Given the description of an element on the screen output the (x, y) to click on. 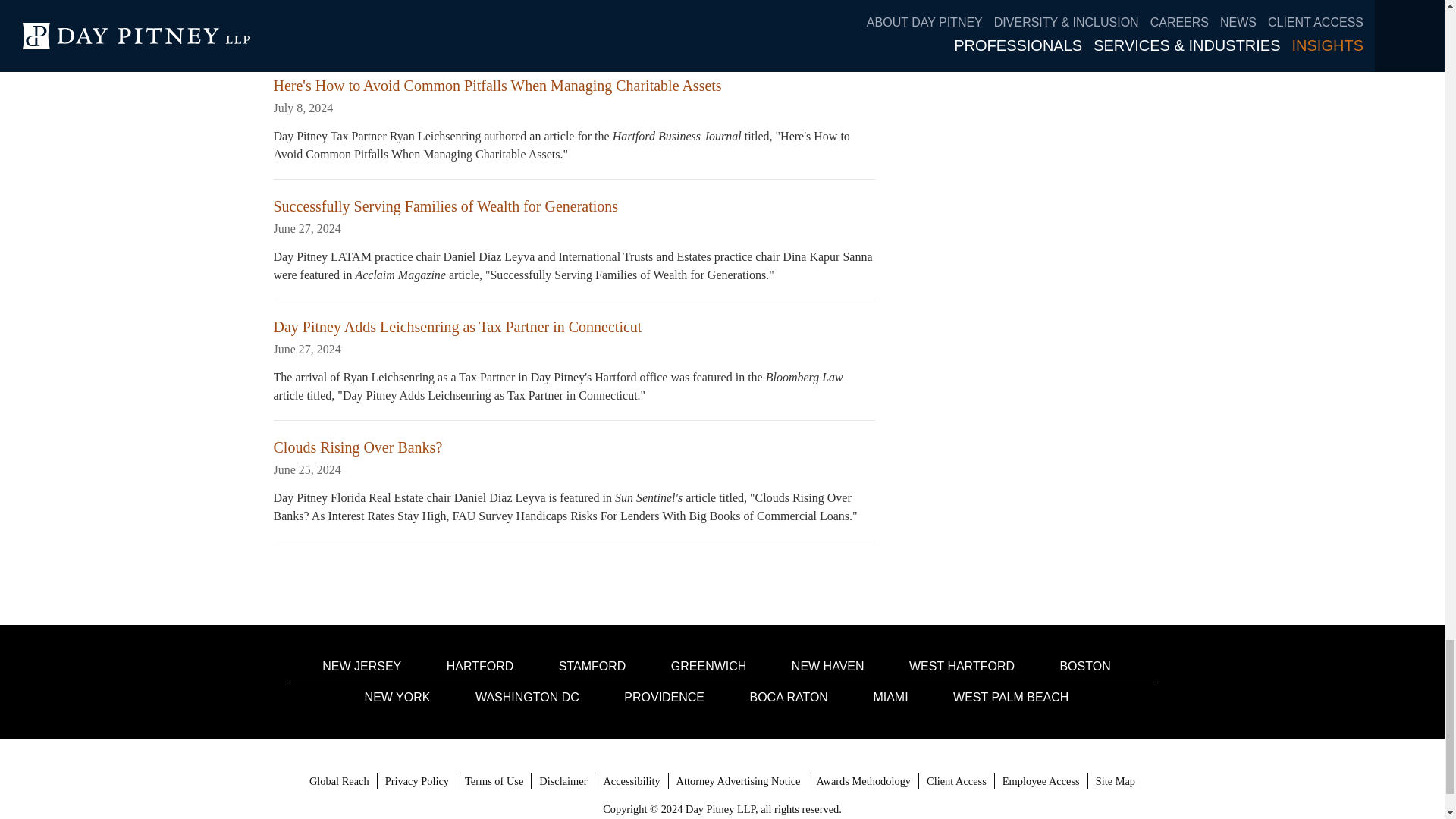
This link opens a new window to an external website (1040, 780)
